Given the description of an element on the screen output the (x, y) to click on. 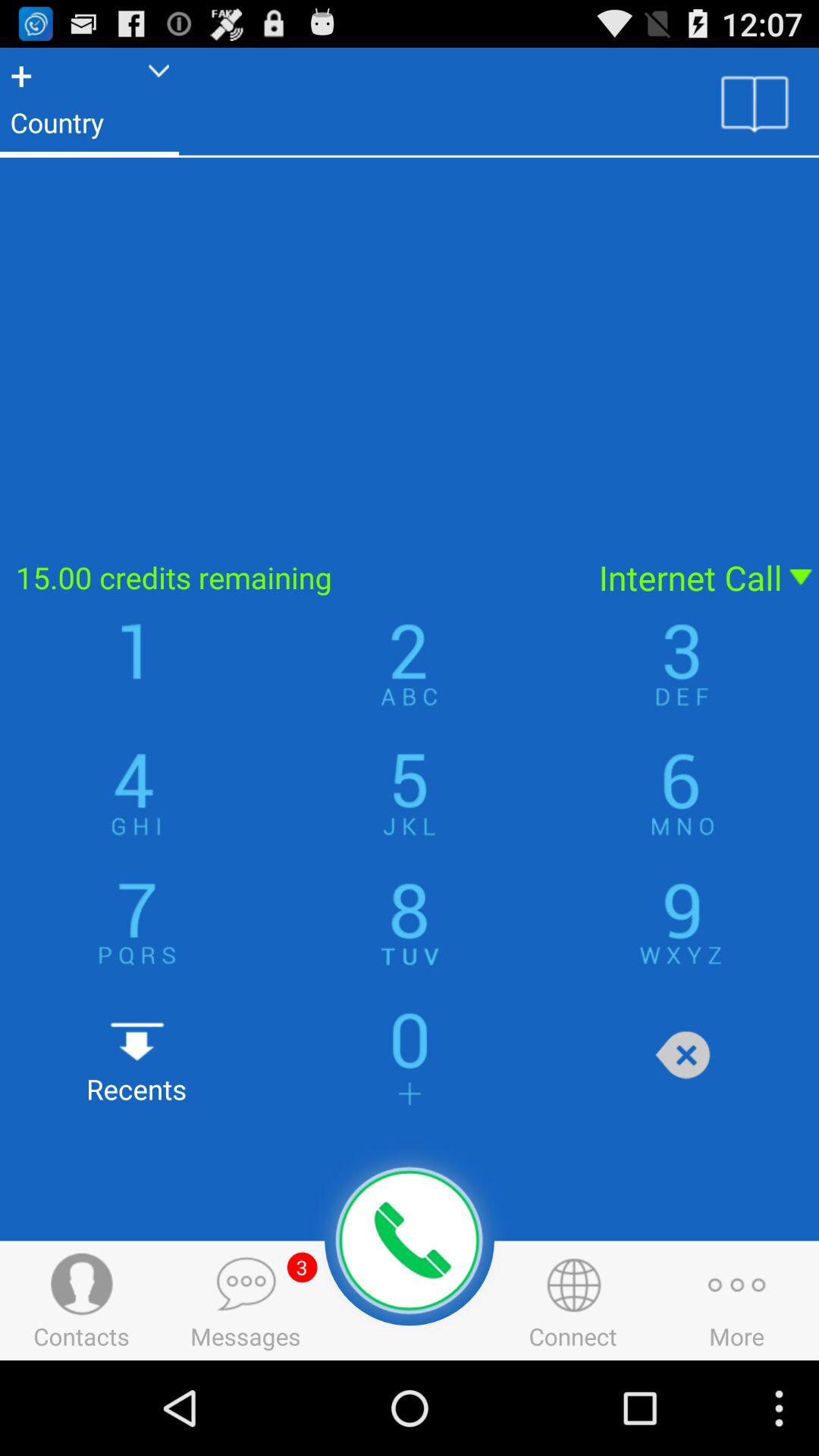
place call (409, 1240)
